Given the description of an element on the screen output the (x, y) to click on. 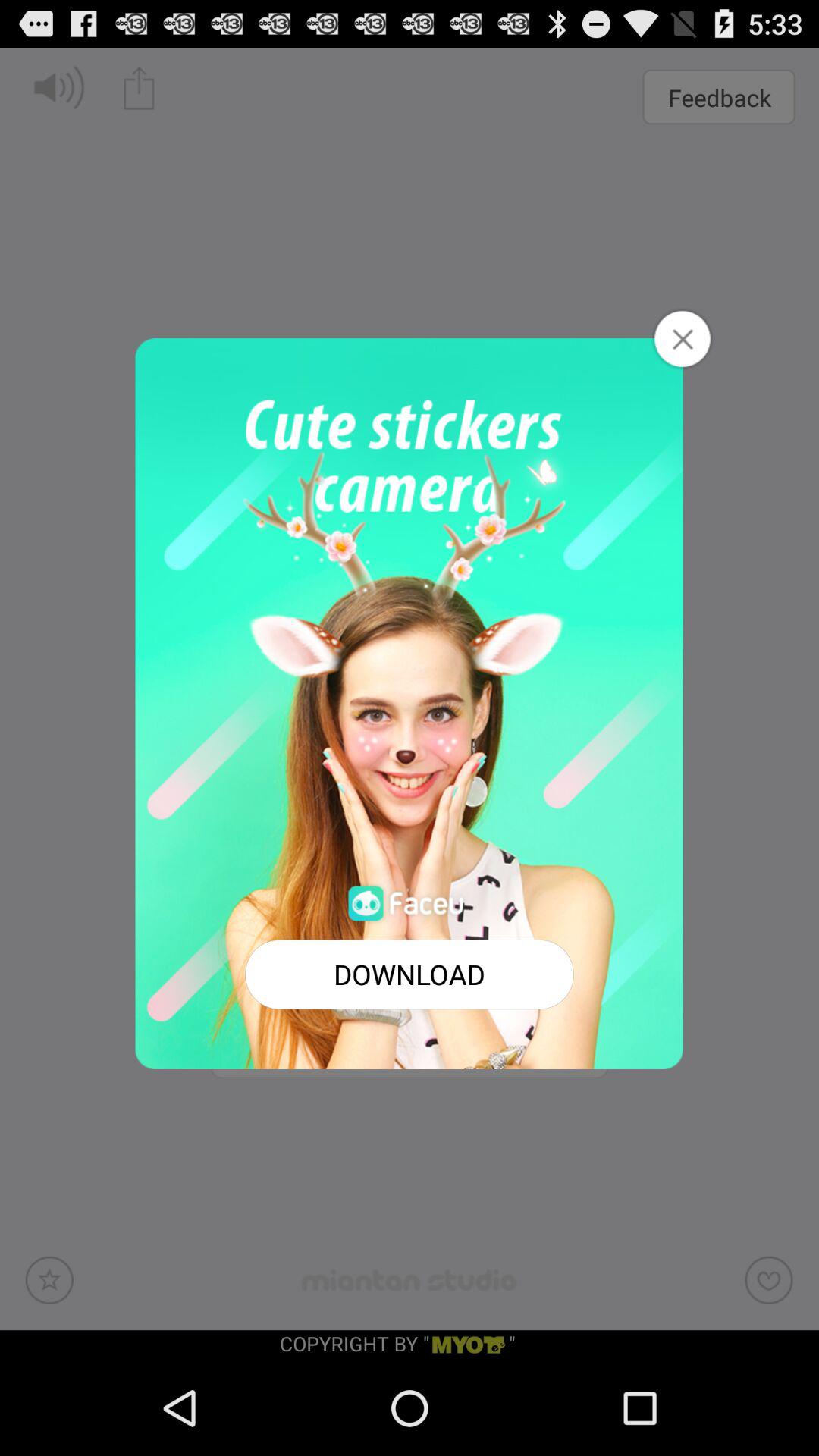
choose button at the bottom (409, 974)
